Given the description of an element on the screen output the (x, y) to click on. 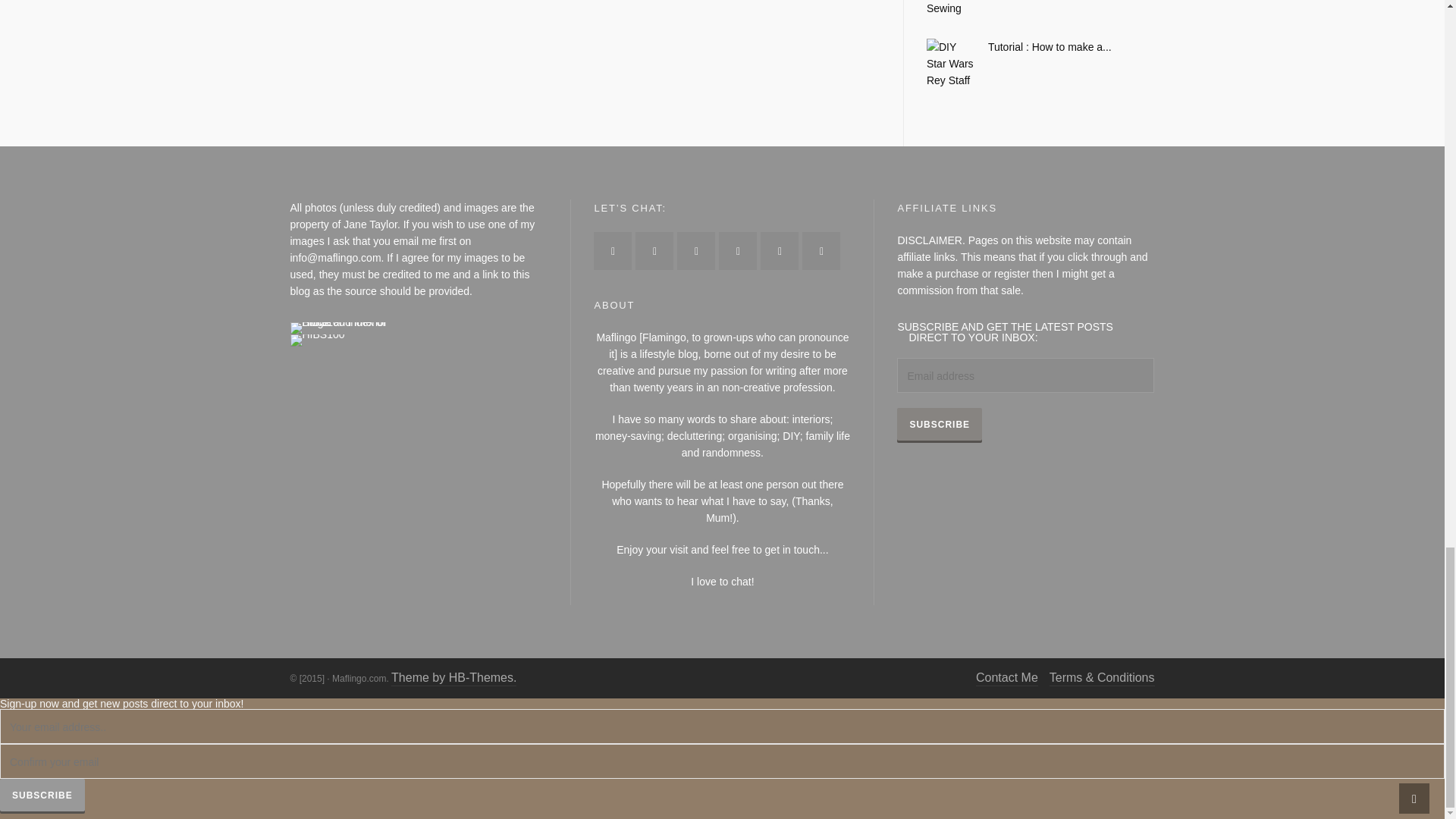
HIBS100 Index of Home and Interior Blogs (351, 326)
Subscribe (42, 795)
Subscribe (938, 424)
